Given the description of an element on the screen output the (x, y) to click on. 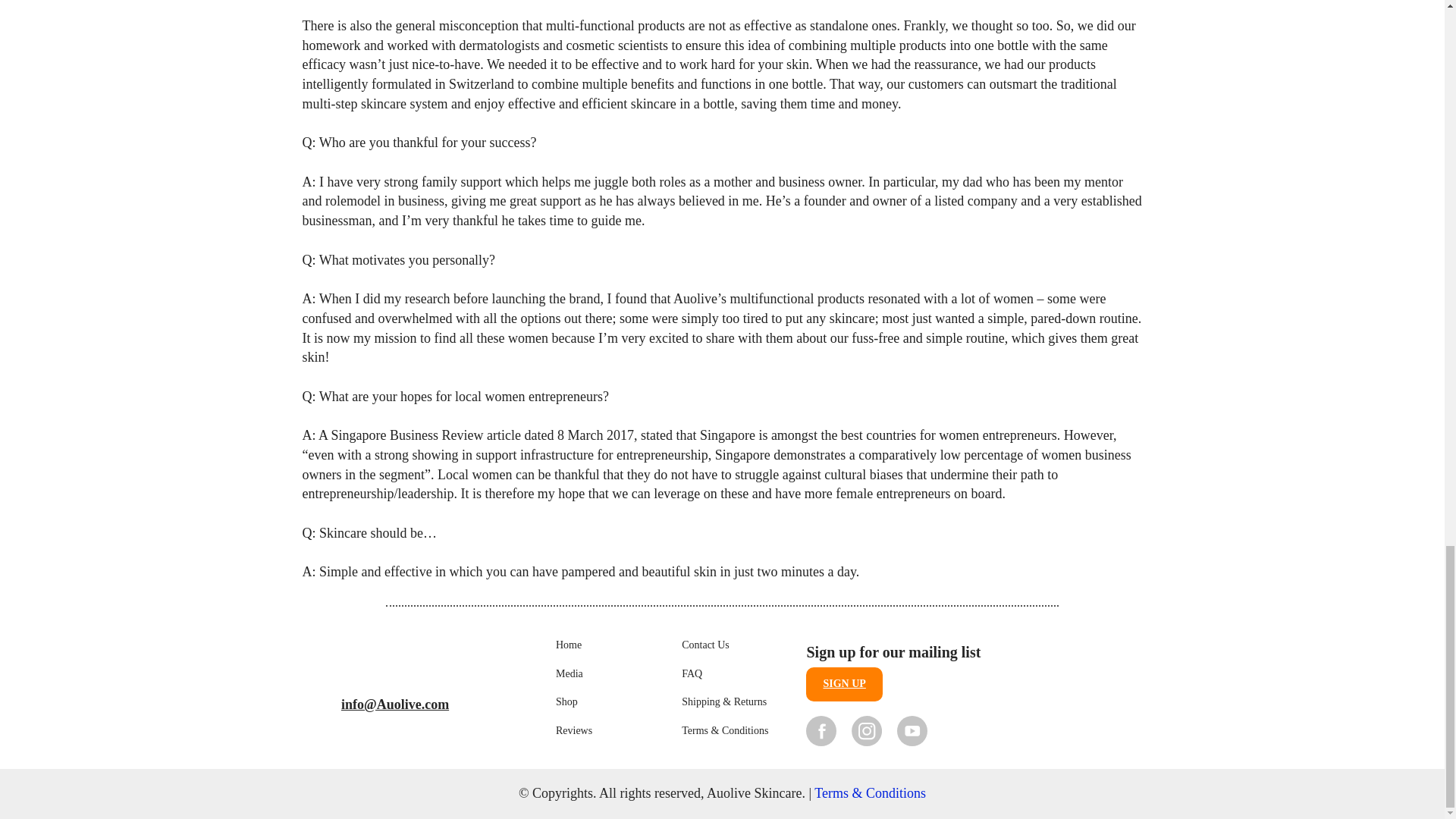
Auolive's Youtube Channel! (911, 730)
Social Link (911, 730)
Shop (566, 702)
FAQ (691, 674)
Auolive's Instagram! (866, 730)
Home (568, 645)
Contact Us (704, 645)
Auolive's Facebook Page! (820, 730)
Social Link (820, 730)
Social Link (866, 730)
Media (569, 674)
SIGN UP (844, 684)
Reviews (574, 731)
